Given the description of an element on the screen output the (x, y) to click on. 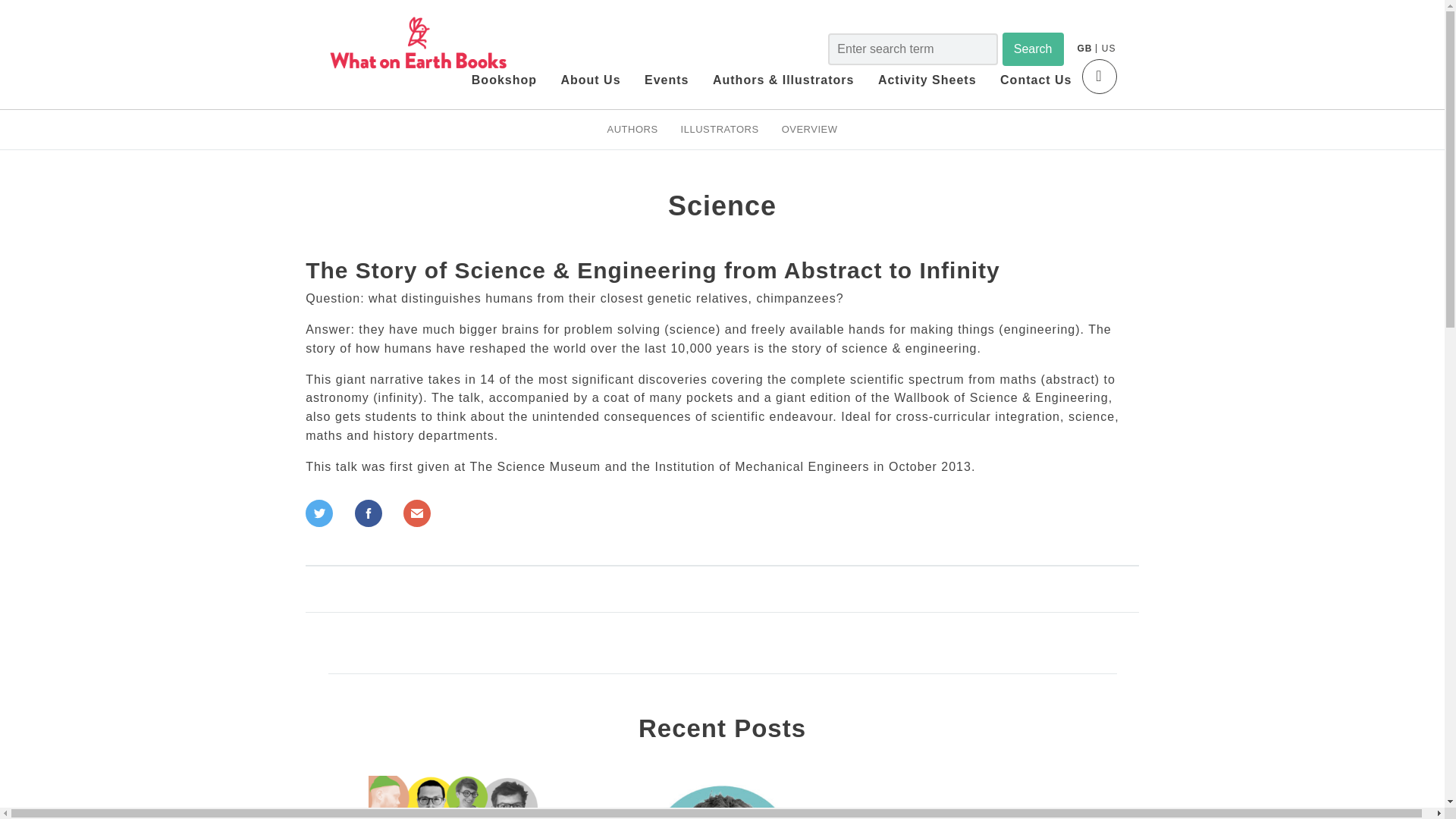
Search (1033, 49)
GB (1084, 48)
Contact Us (1035, 79)
Bookshop (504, 79)
AUTHORS (632, 129)
US (1109, 48)
ILLUSTRATORS (719, 129)
About Us (590, 79)
Search for: (912, 49)
OVERVIEW (809, 129)
